Given the description of an element on the screen output the (x, y) to click on. 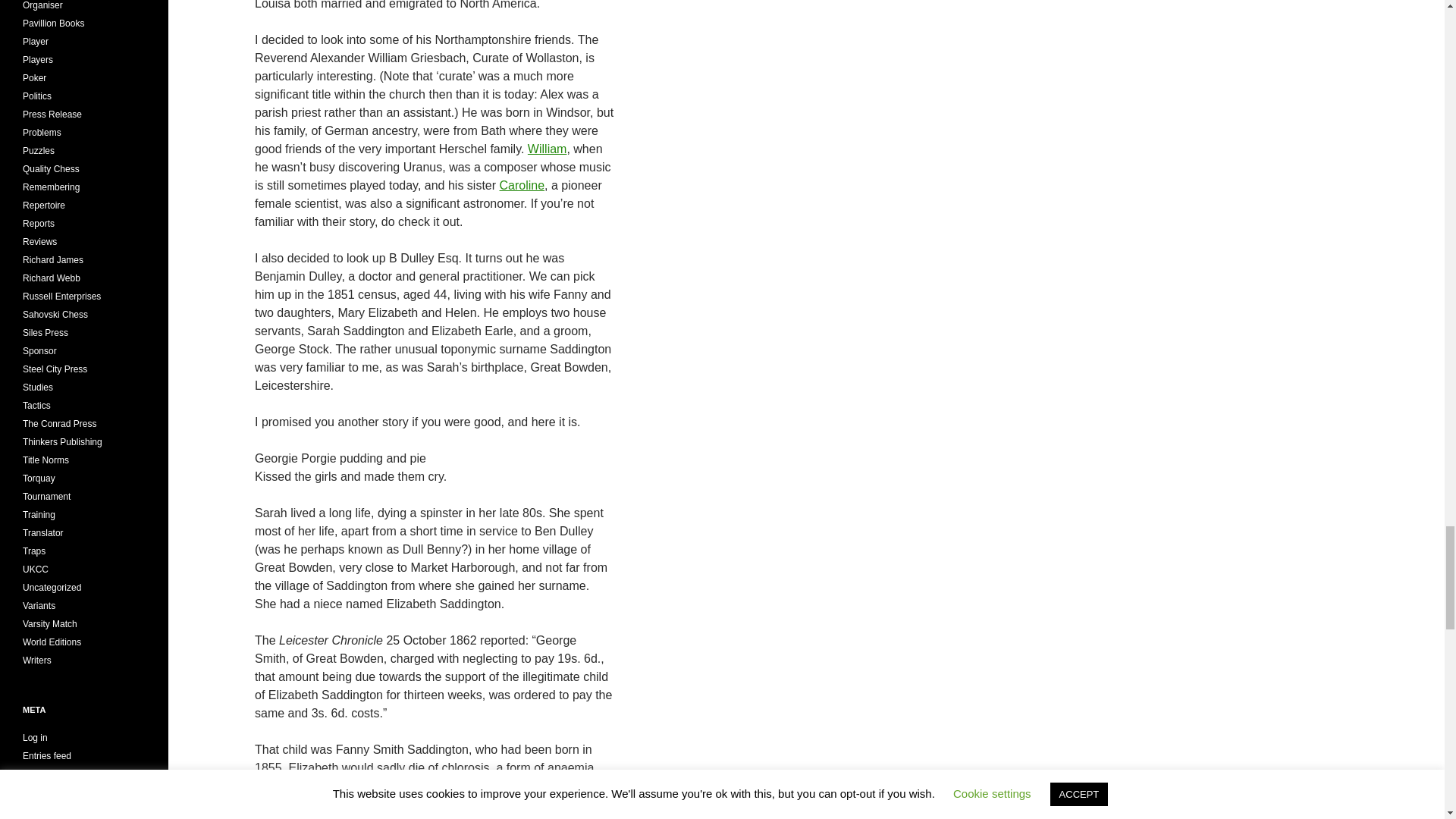
Caroline (521, 185)
William (547, 148)
